Given the description of an element on the screen output the (x, y) to click on. 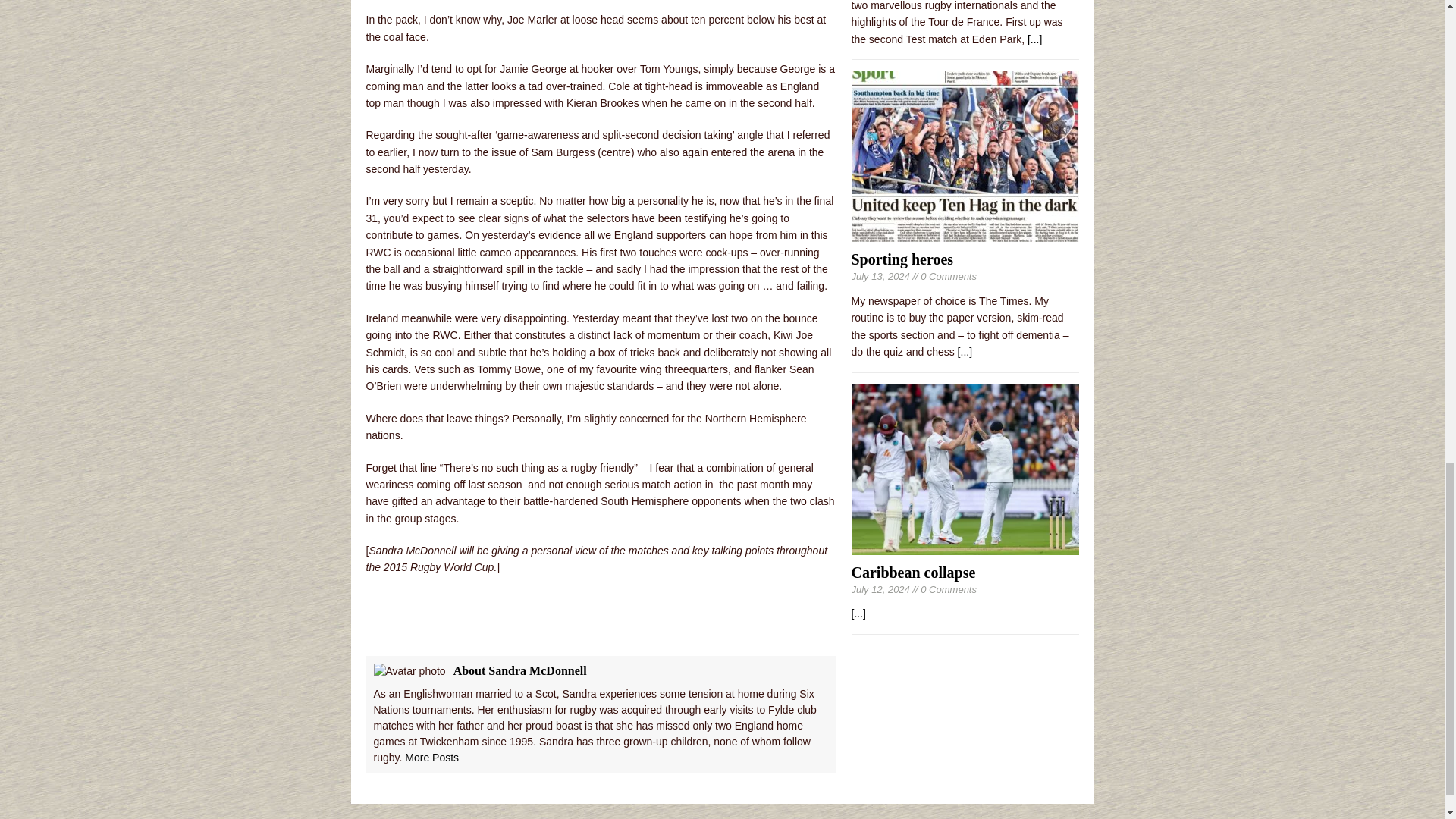
Sporting heroes (964, 233)
Caribbean collapse (964, 545)
Caribbean collapse (912, 572)
More articles written by Sandra McDonnell (431, 757)
Sporting heroes (901, 258)
A sporting Saturday on the sofa (1034, 39)
Sporting heroes (965, 351)
